Given the description of an element on the screen output the (x, y) to click on. 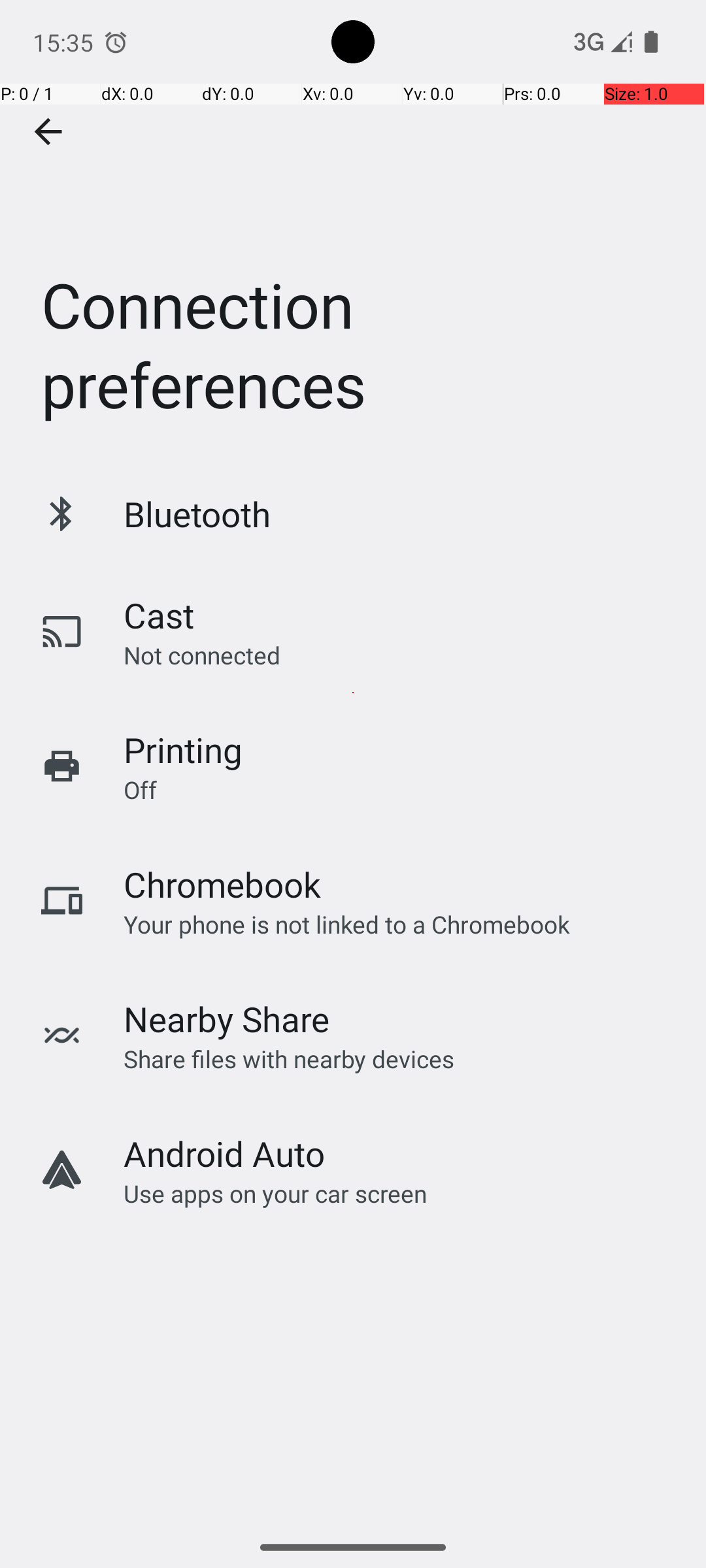
Cast Element type: android.widget.TextView (158, 614)
Not connected Element type: android.widget.TextView (201, 654)
Printing Element type: android.widget.TextView (182, 749)
Chromebook Element type: android.widget.TextView (222, 884)
Your phone is not linked to a Chromebook Element type: android.widget.TextView (346, 923)
Share files with nearby devices Element type: android.widget.TextView (288, 1058)
Use apps on your car screen Element type: android.widget.TextView (275, 1192)
